Given the description of an element on the screen output the (x, y) to click on. 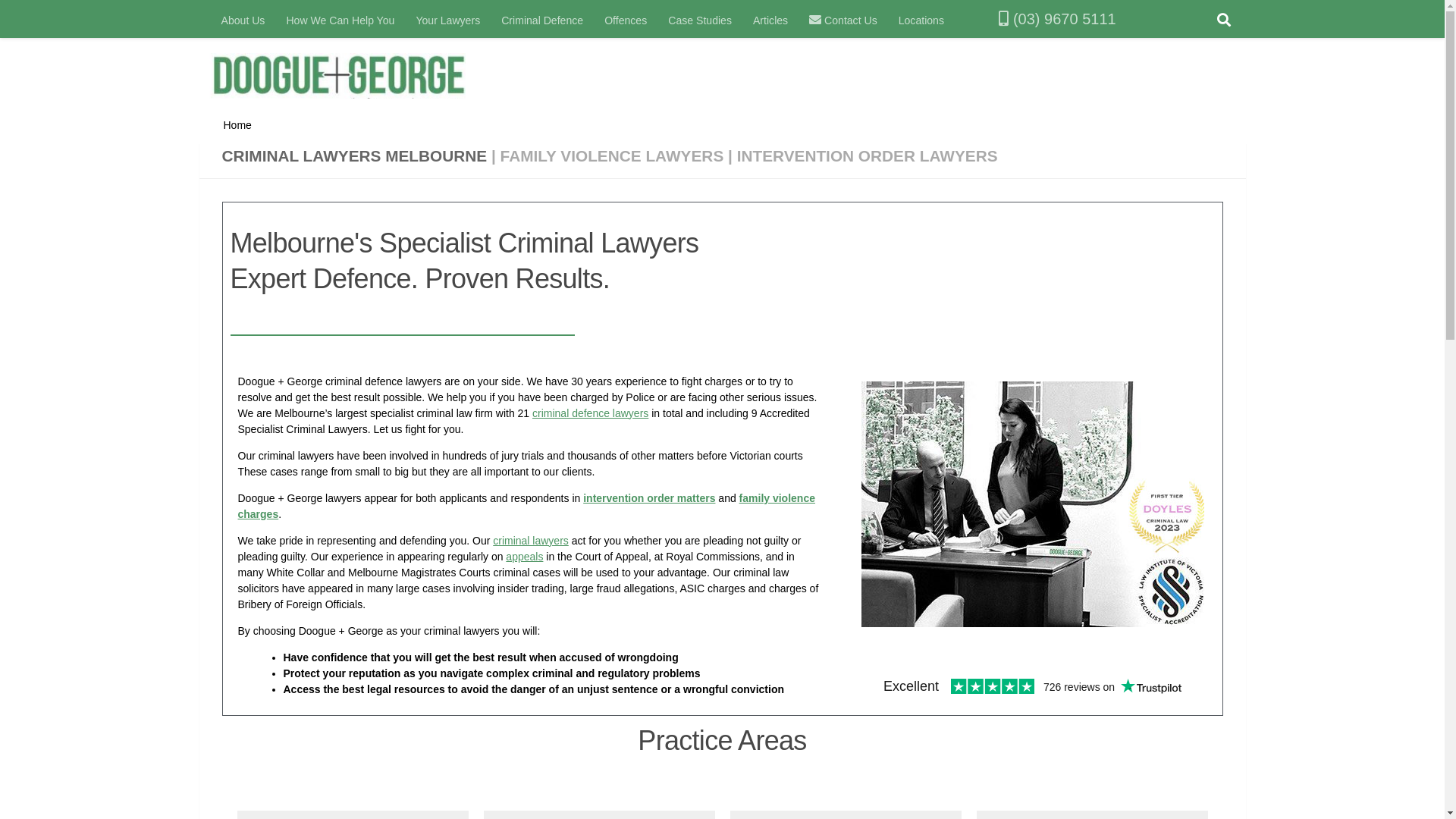
Customer reviews powered by Trustpilot Element type: hover (1032, 685)
Call Doogue & George Element type: hover (1003, 18)
Articles Element type: text (770, 20)
Your Lawyers Element type: text (447, 20)
Doogue + George | Home page Element type: hover (354, 81)
Criminal Defence Element type: text (541, 20)
Skip to content Element type: text (58, 20)
criminal defence lawyers Element type: text (590, 413)
         (03) 9670 5111 Element type: text (1040, 19)
Contact Us Element type: text (843, 20)
intervention order matters Element type: text (649, 498)
criminal lawyers Element type: text (530, 540)
About Us Element type: text (243, 20)
family violence charges Element type: text (526, 506)
Offences Element type: text (625, 20)
How We Can Help You Element type: text (339, 20)
Case Studies Element type: text (699, 20)
appeals Element type: text (523, 556)
Contact Doogue & George Element type: hover (815, 19)
Locations Element type: text (921, 20)
